Given the description of an element on the screen output the (x, y) to click on. 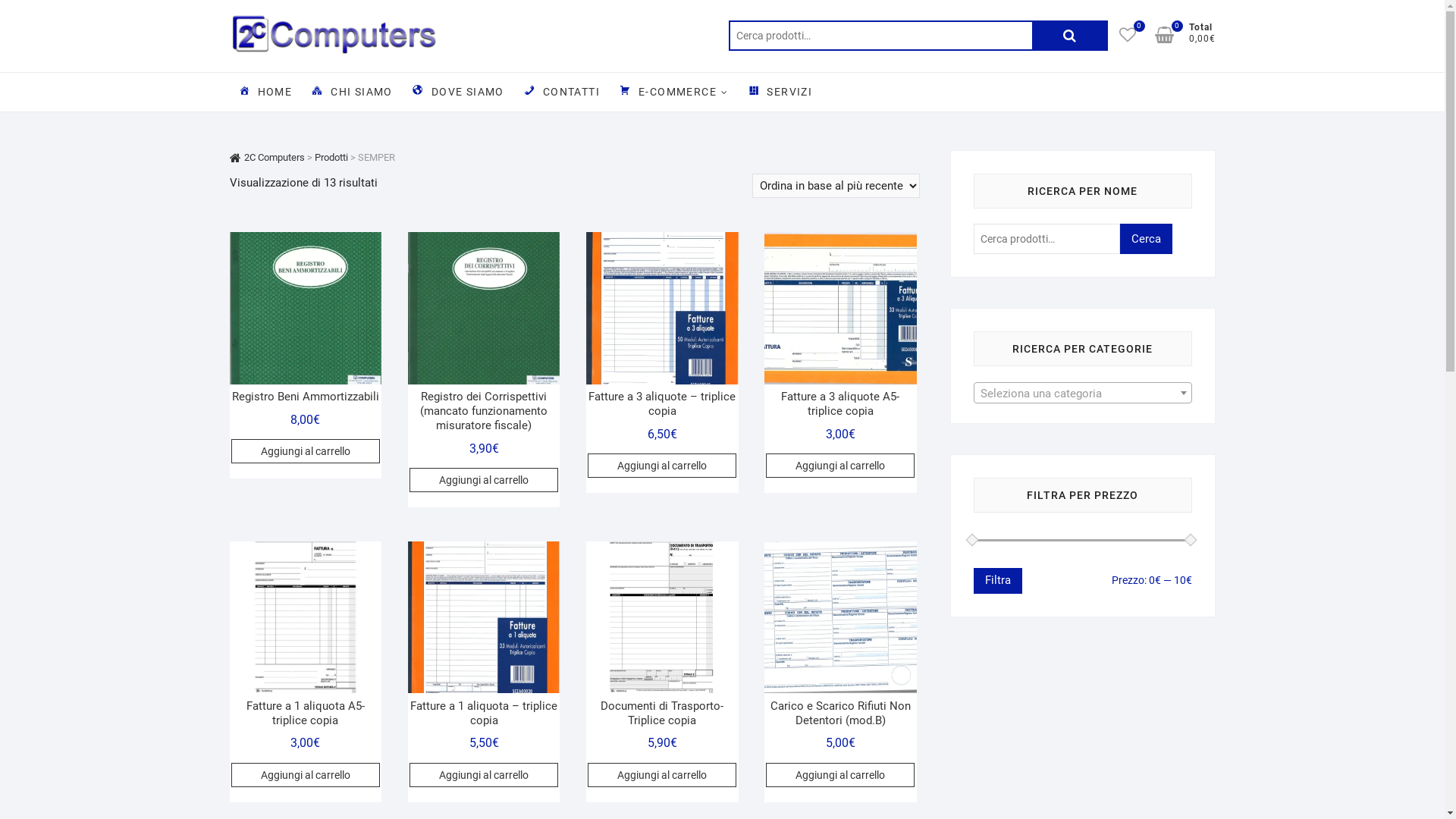
Cerca Element type: text (1069, 35)
Cerca Element type: text (1145, 238)
DOVE SIAMO Element type: text (457, 91)
HOME Element type: text (264, 91)
Aggiungi al carrello Element type: text (661, 774)
Prodotti Element type: text (330, 157)
Aggiungi al carrello Element type: text (839, 465)
0 Element type: text (1171, 34)
2C Computers Element type: text (266, 157)
E-COMMERCE Element type: text (672, 91)
0 Element type: text (1135, 34)
Aggiungi al carrello Element type: text (839, 774)
Filtra Element type: text (997, 580)
Aggiungi al carrello Element type: text (483, 479)
Aggiungi al carrello Element type: text (661, 465)
CONTATTI Element type: text (560, 91)
Aggiungi al carrello Element type: text (305, 451)
SERVIZI Element type: text (778, 91)
CHI SIAMO Element type: text (351, 91)
Aggiungi al carrello Element type: text (305, 774)
Aggiungi al carrello Element type: text (483, 774)
